Given the description of an element on the screen output the (x, y) to click on. 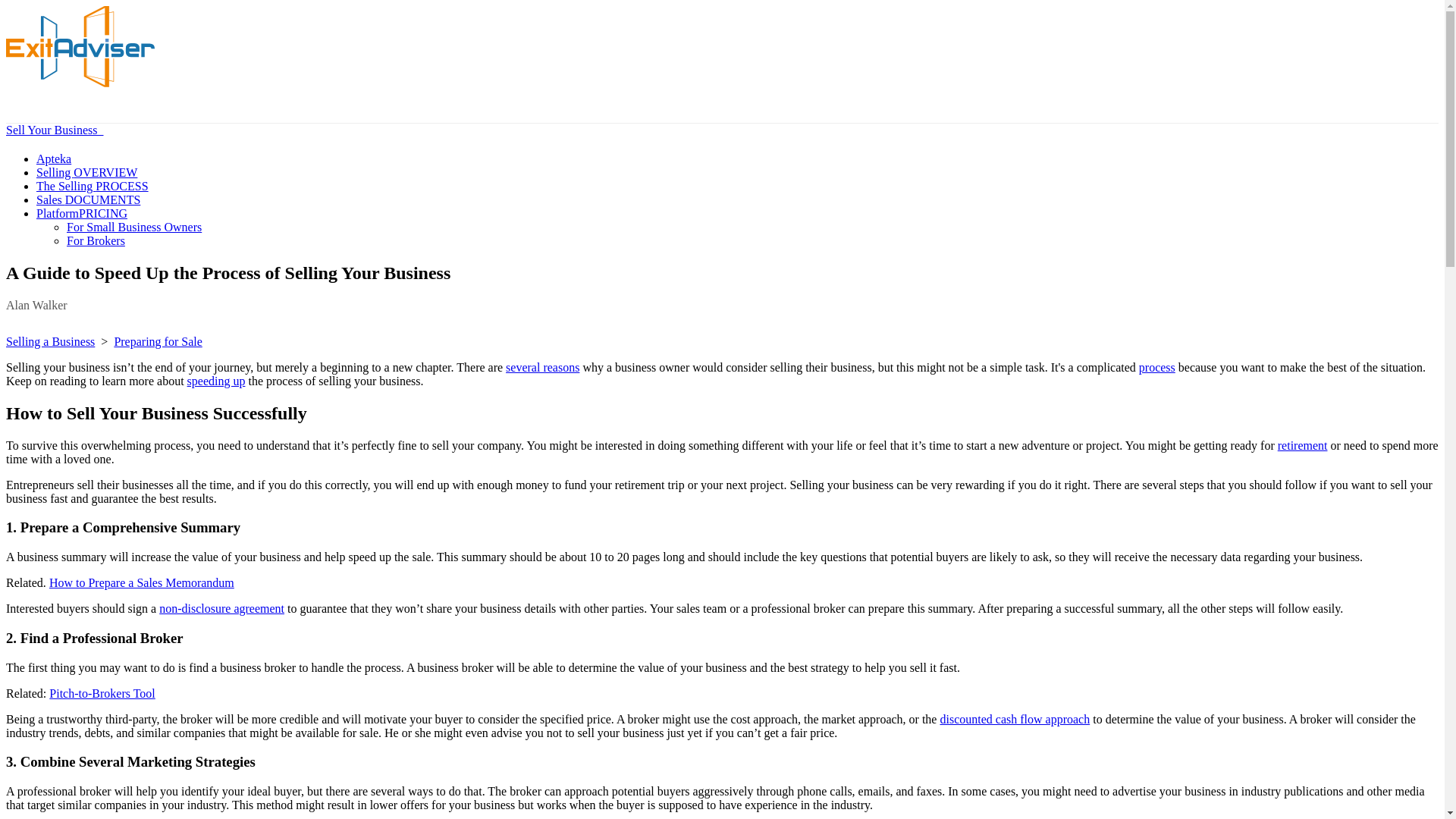
retirement (1302, 445)
Documents for selling a business (87, 199)
The 4-step business-selling process (92, 185)
process (1156, 367)
non-disclosure agreement (220, 608)
Sales DOCUMENTS (87, 199)
PlatformPRICING (82, 213)
several reasons (542, 367)
Selling a Business (49, 341)
For Brokers (95, 240)
